Given the description of an element on the screen output the (x, y) to click on. 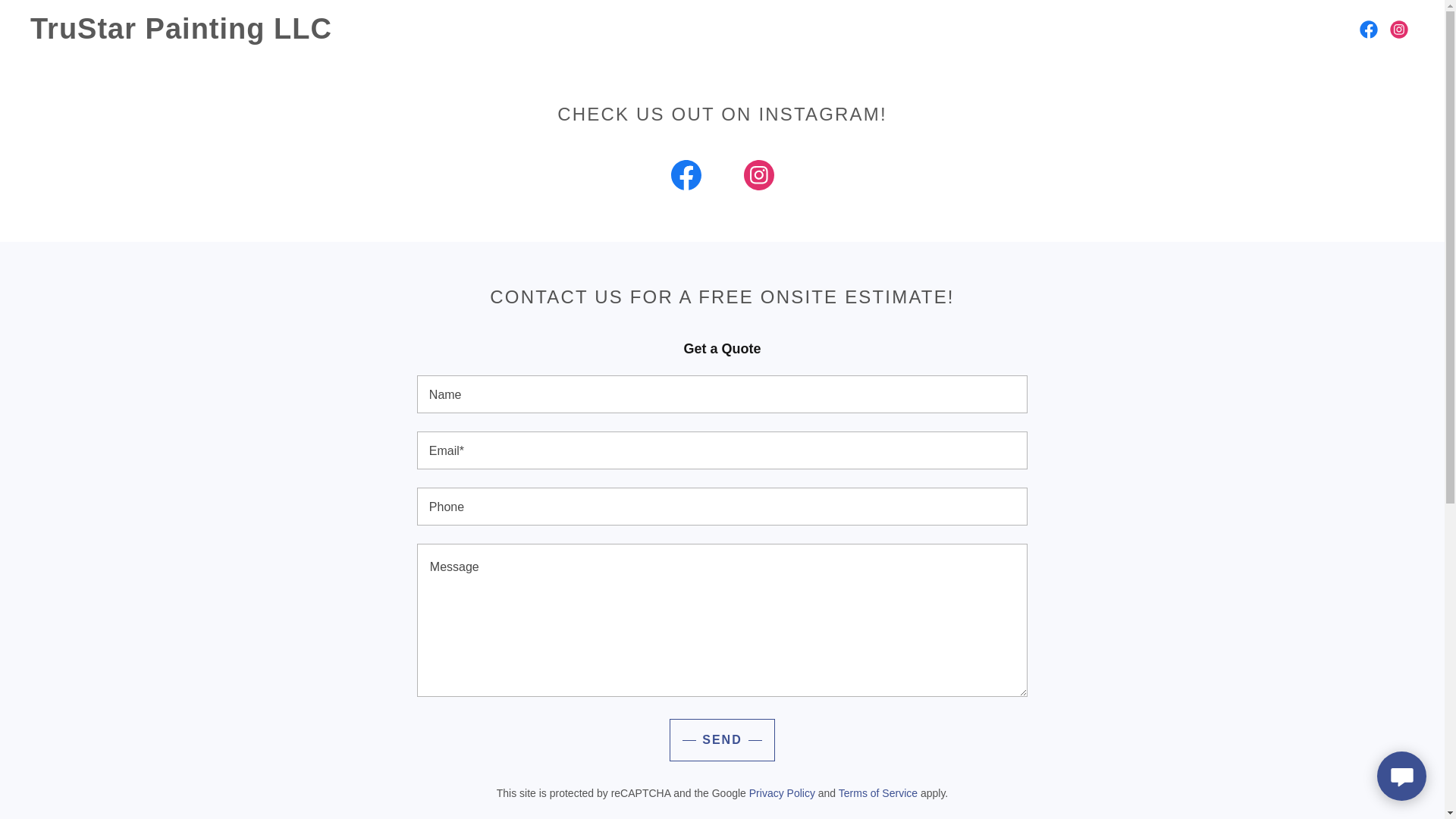
Privacy Policy (782, 793)
SEND (721, 740)
TruStar Painting LLC (226, 33)
Terms of Service (877, 793)
TruStar Painting LLC (226, 33)
